Given the description of an element on the screen output the (x, y) to click on. 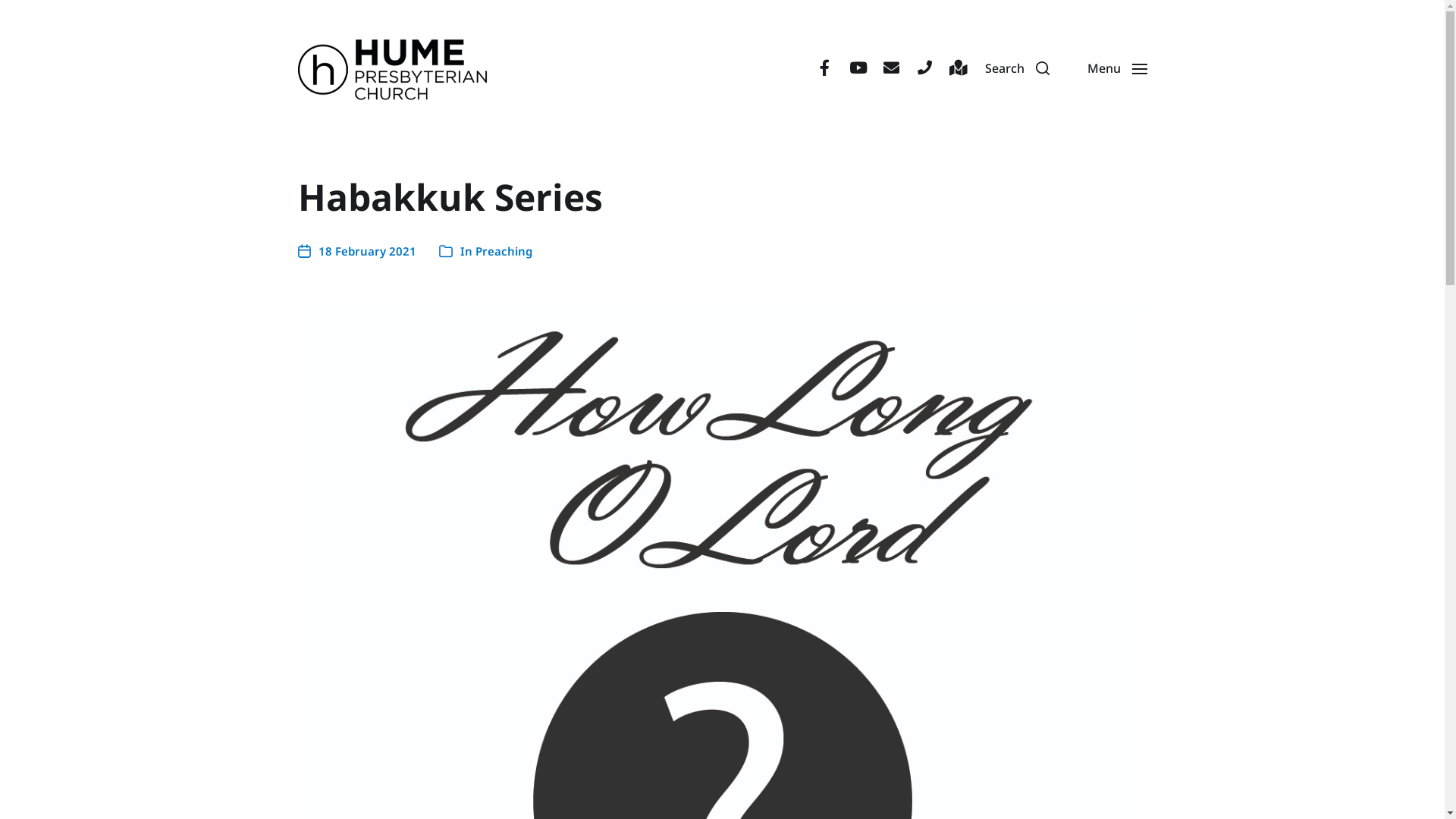
Preaching Element type: text (502, 250)
Menu Element type: text (1116, 68)
Search Element type: text (1017, 68)
18 February 2021 Element type: text (356, 251)
